Given the description of an element on the screen output the (x, y) to click on. 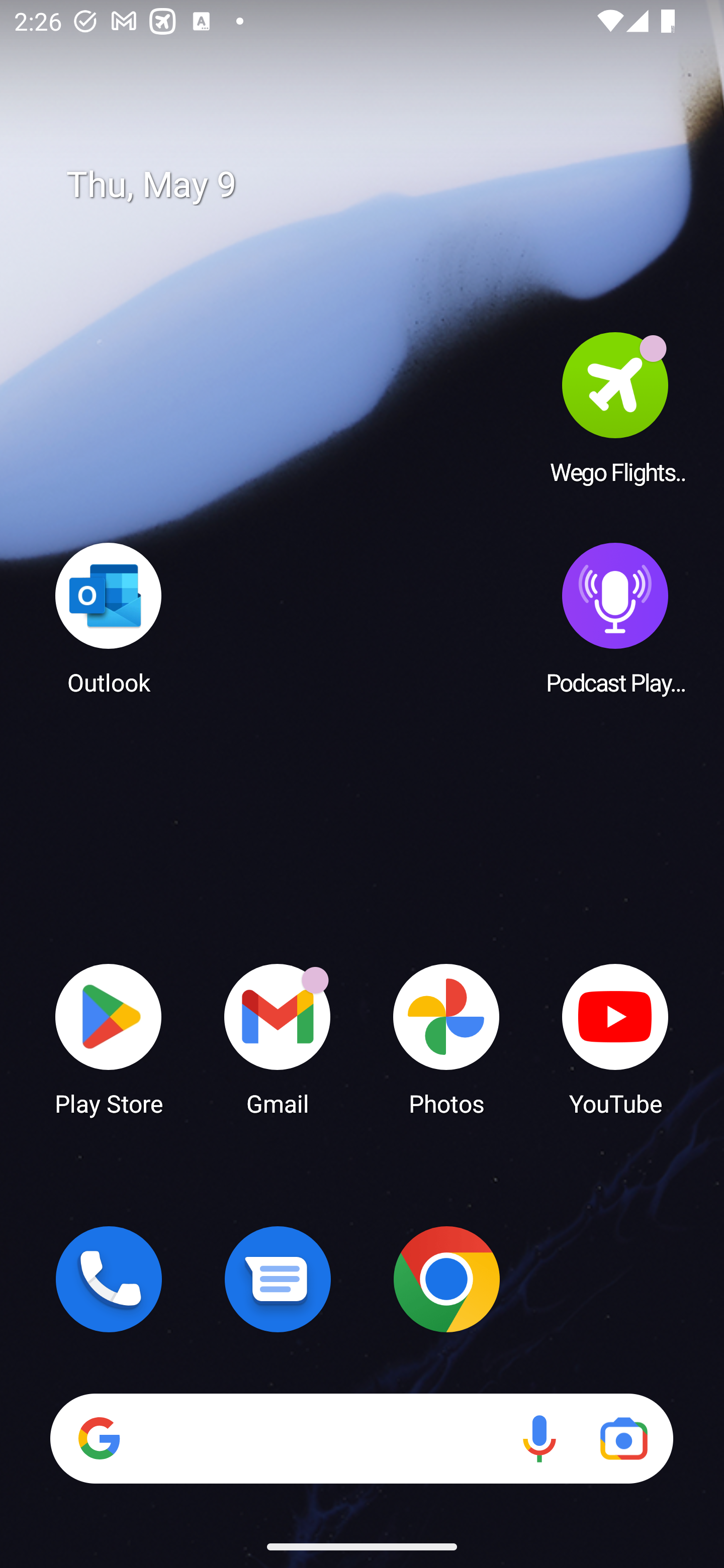
Thu, May 9 (375, 184)
Outlook (108, 617)
Podcast Player (615, 617)
Play Store (108, 1038)
Gmail Gmail has 18 notifications (277, 1038)
Photos (445, 1038)
YouTube (615, 1038)
Phone (108, 1279)
Messages (277, 1279)
Chrome (446, 1279)
Search Voice search Google Lens (361, 1438)
Voice search (539, 1438)
Google Lens (623, 1438)
